Given the description of an element on the screen output the (x, y) to click on. 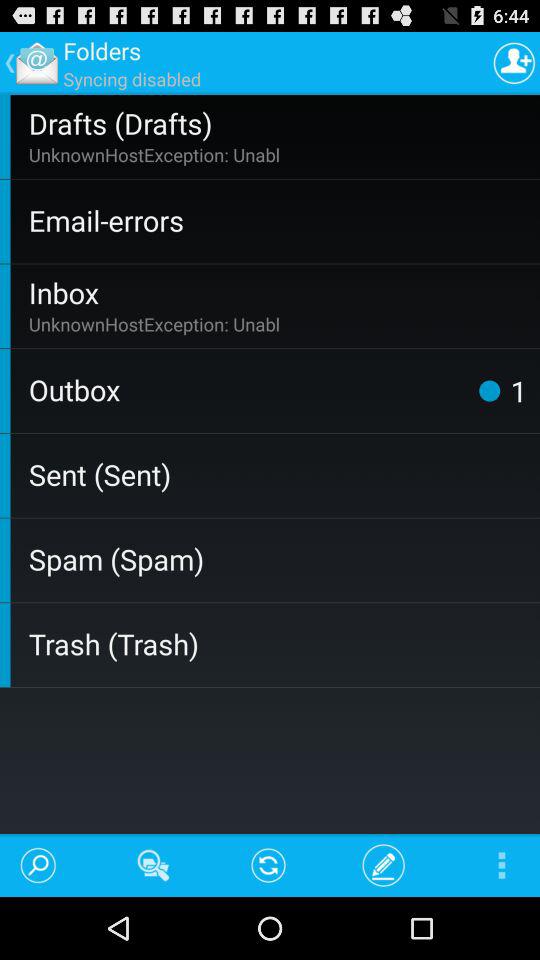
turn off icon below the unknownhostexception: unabl app (280, 219)
